Given the description of an element on the screen output the (x, y) to click on. 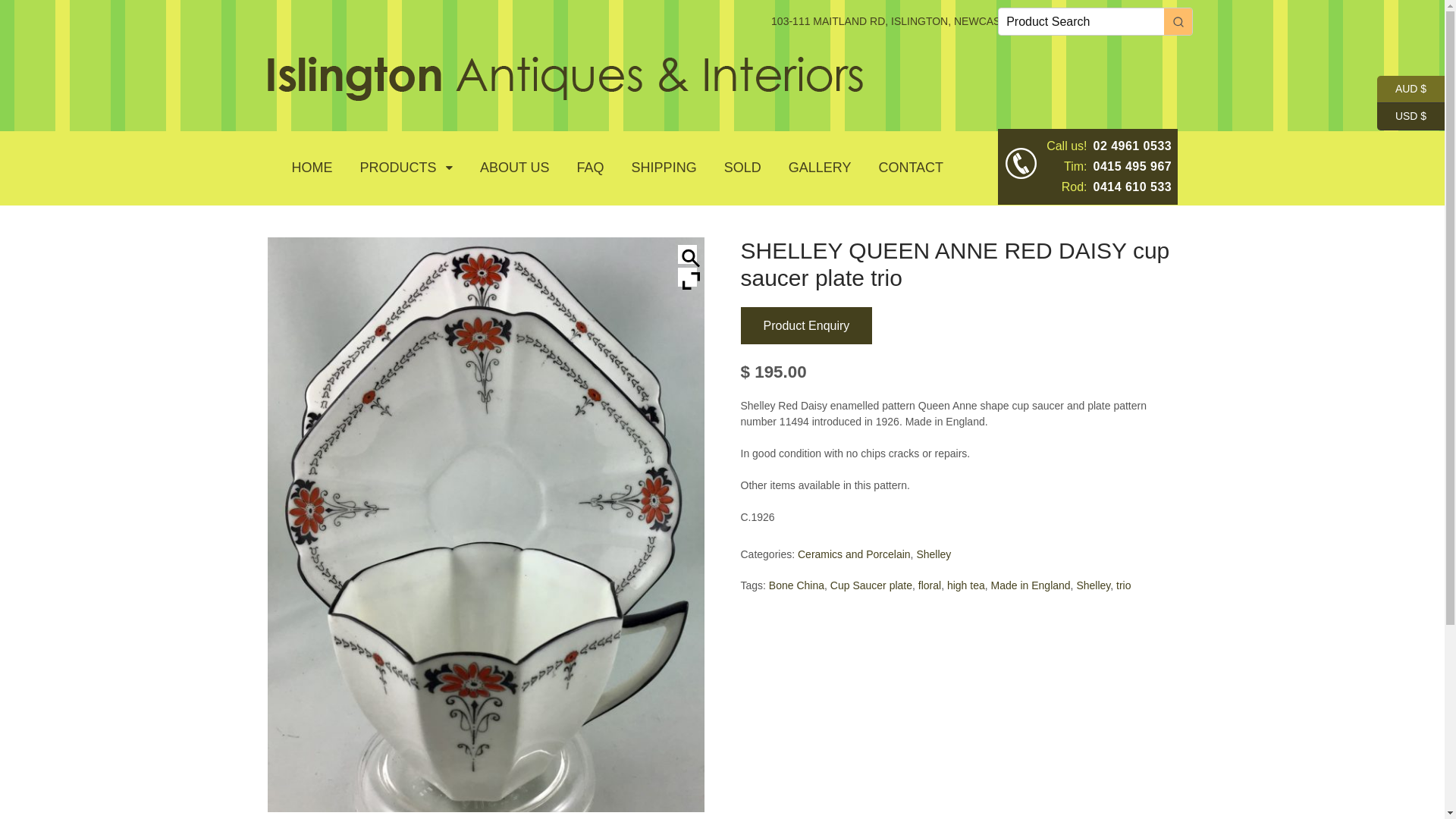
high tea Element type: text (966, 585)
0415 495 967 Element type: text (1132, 166)
SHIPPING Element type: text (664, 168)
floral Element type: text (929, 585)
SOLD Element type: text (742, 168)
AUD $ Element type: text (1410, 89)
Antique Store Newcastle Element type: hover (564, 92)
Product Enquiry Element type: text (806, 325)
Shelley Element type: text (1093, 585)
GALLERY Element type: text (820, 168)
0414 610 533 Element type: text (1132, 186)
USD $ Element type: text (1410, 116)
Made in England Element type: text (1030, 585)
Cup Saucer plate Element type: text (871, 585)
trio Element type: text (1123, 585)
HOME Element type: text (311, 168)
ABOUT US Element type: text (514, 168)
Bone China Element type: text (796, 585)
Shelley Element type: text (933, 554)
FAQ Element type: text (590, 168)
02 4961 0533 Element type: text (1132, 145)
CONTACT Element type: text (910, 168)
2824543C-0C11-4D4D-990E-A1B6F994B7C6 Element type: hover (484, 524)
Ceramics and Porcelain Element type: text (853, 554)
PRODUCTS Element type: text (405, 168)
103-111 MAITLAND RD, ISLINGTON, NEWCASTLE Element type: text (895, 21)
